Given the description of an element on the screen output the (x, y) to click on. 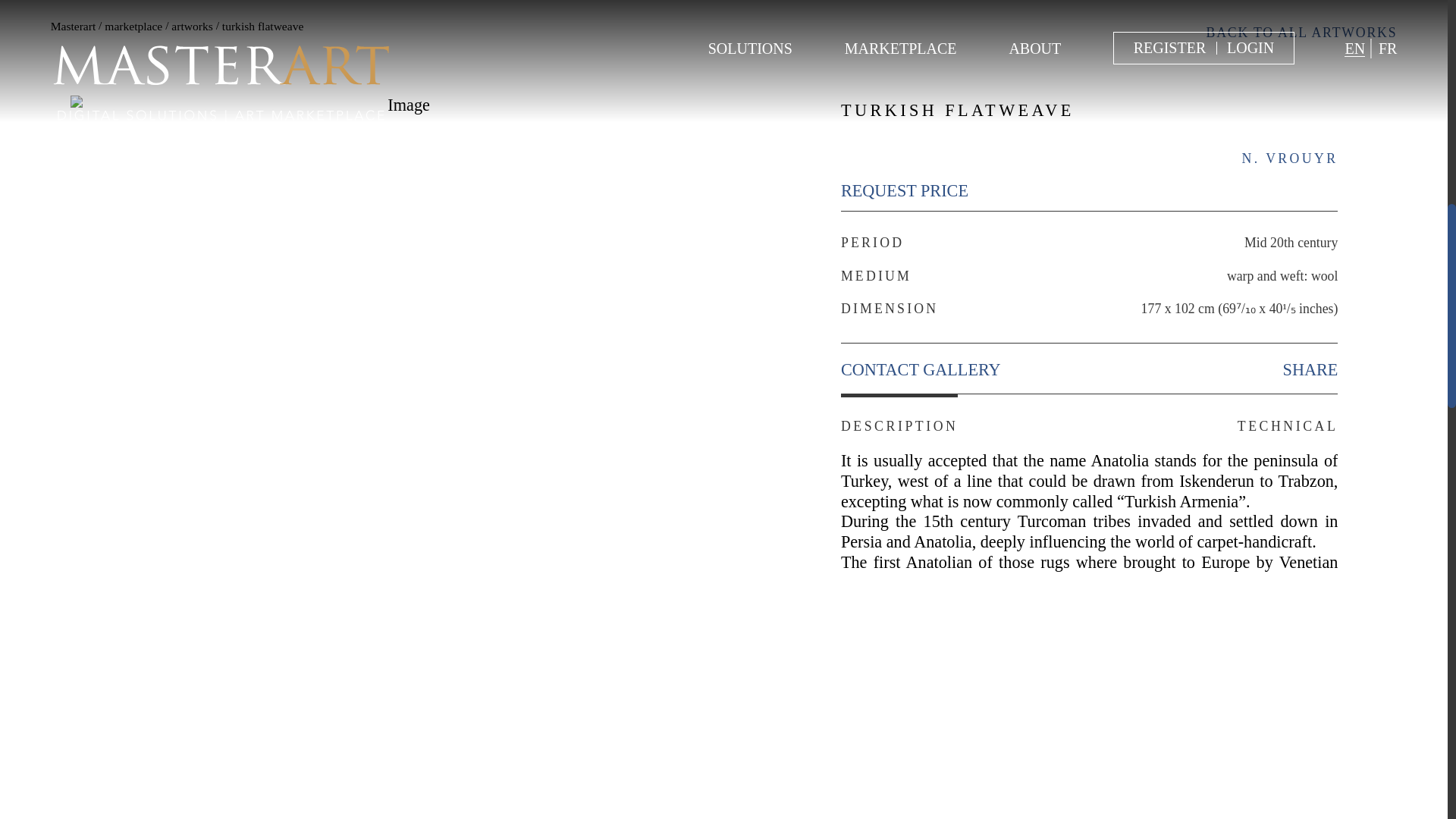
N. VROUYR (1289, 158)
artworks (191, 25)
TECHNICAL (1287, 413)
DESCRIPTION (899, 413)
BACK TO ALL ARTWORKS (1302, 33)
Masterart (73, 25)
REQUEST PRICE (904, 190)
CONTACT GALLERY (921, 370)
Share (1310, 370)
